Given the description of an element on the screen output the (x, y) to click on. 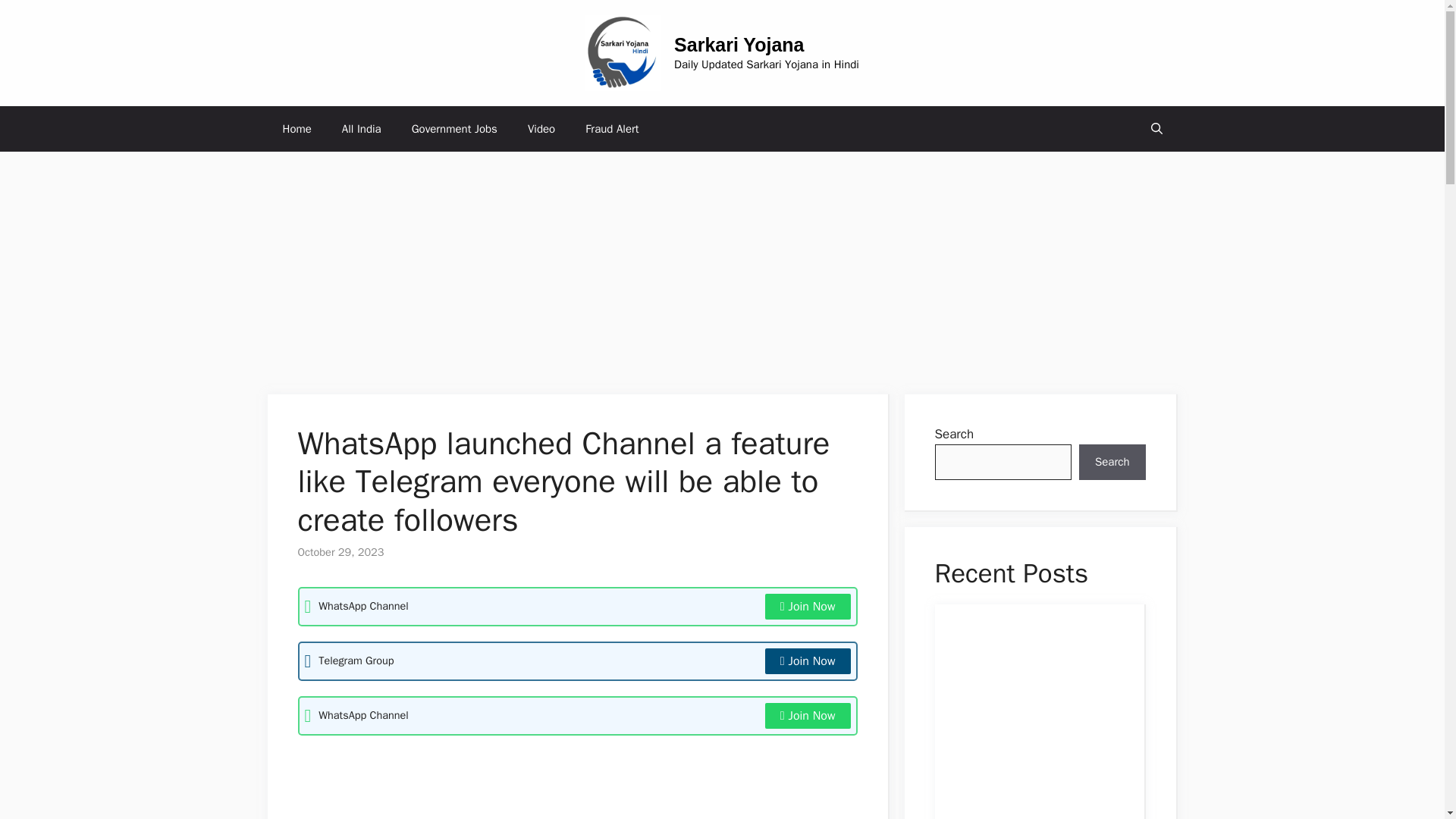
Sarkari Yojana (738, 44)
Join Now (807, 715)
Fraud Alert (611, 128)
Government Jobs (454, 128)
All India (361, 128)
Join Now (807, 661)
Advertisement (569, 785)
Join Now (807, 606)
Search (1111, 462)
